Given the description of an element on the screen output the (x, y) to click on. 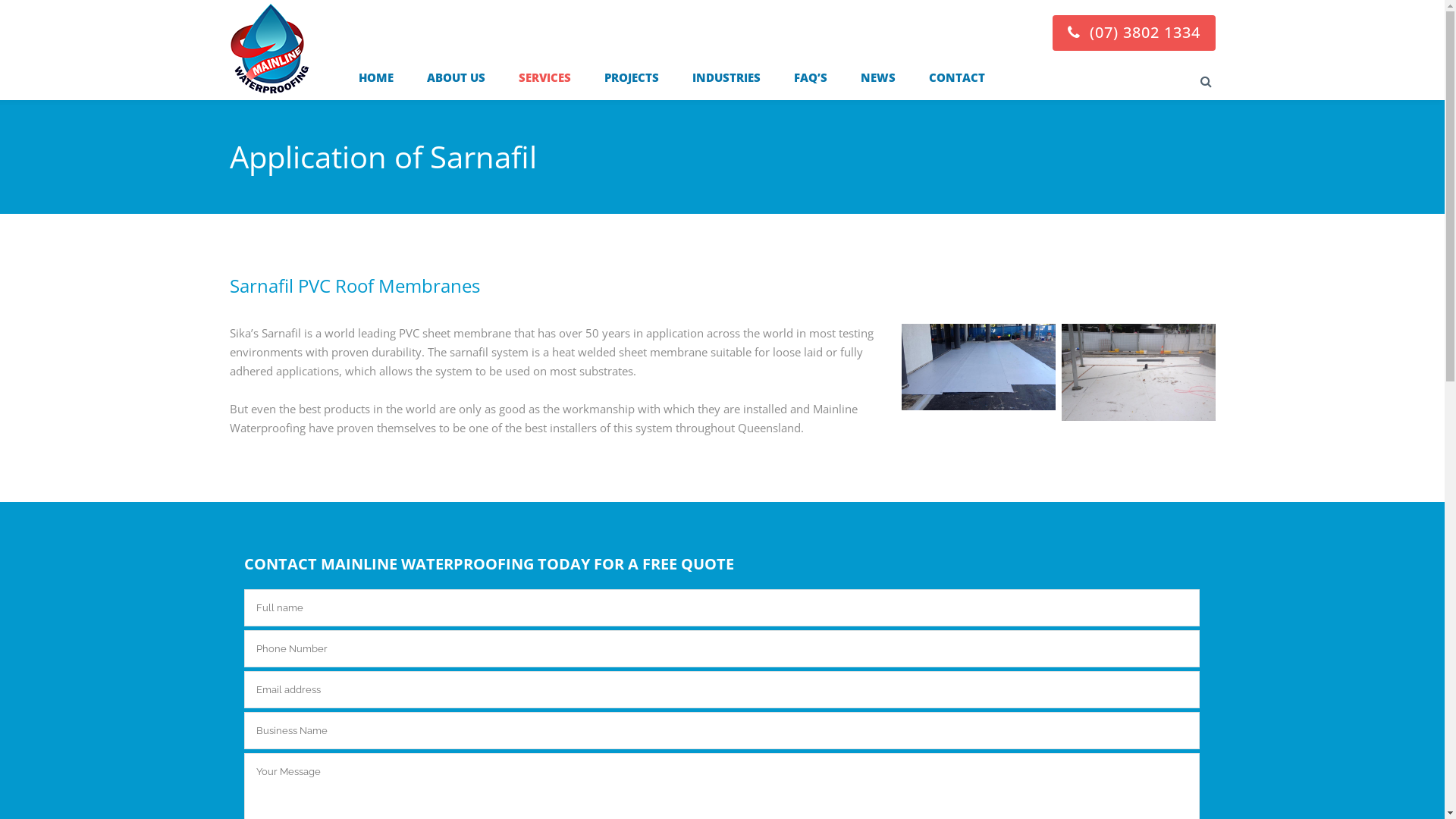
NEWS Element type: text (877, 77)
CONTACT Element type: text (956, 77)
HOME Element type: text (319, 77)
INDUSTRIES Element type: text (725, 77)
(07) 3802 1334 Element type: text (1133, 31)
ABOUT US Element type: text (455, 77)
PROJECTS Element type: text (630, 77)
SERVICES Element type: text (544, 77)
